Given the description of an element on the screen output the (x, y) to click on. 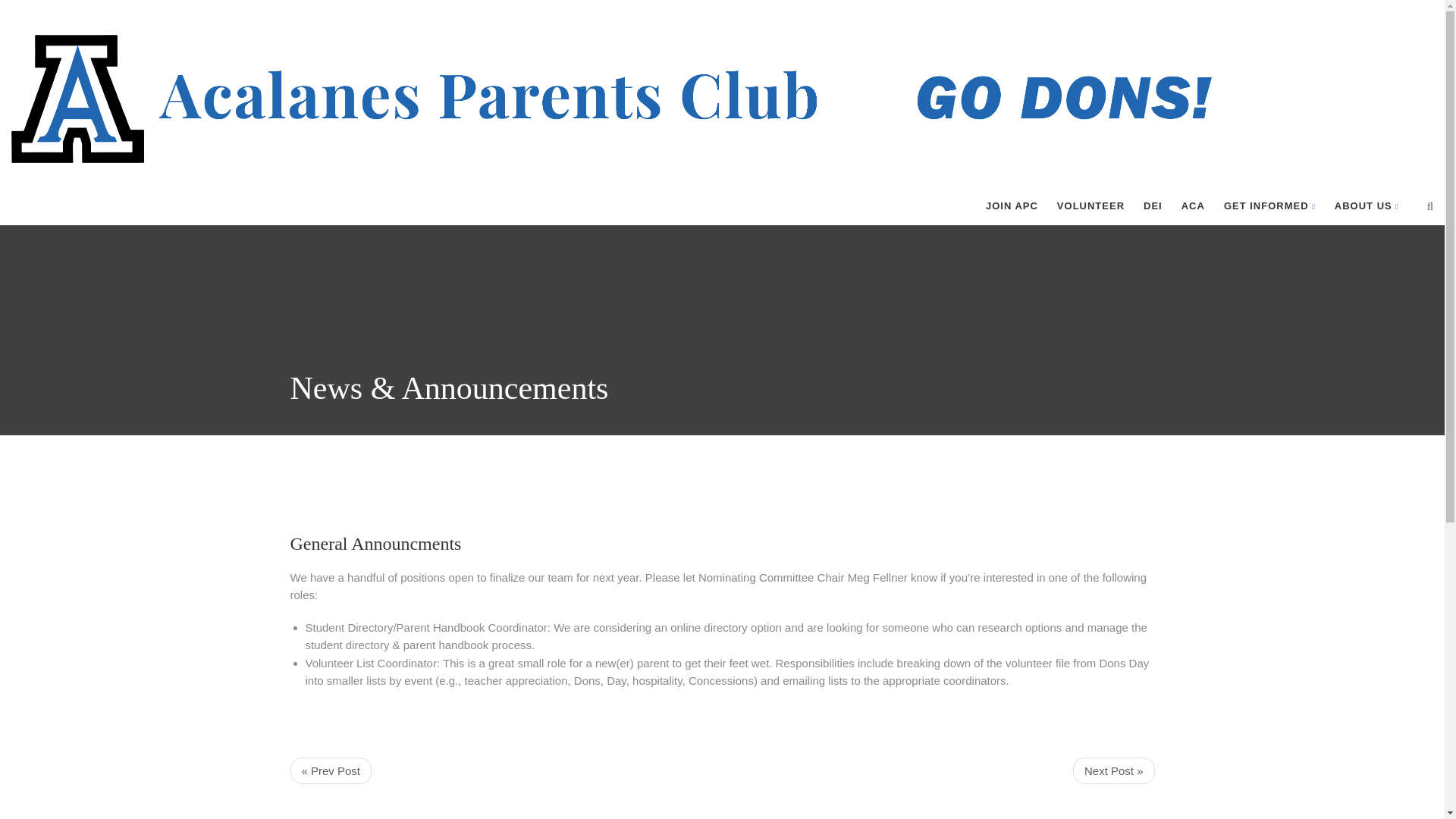
GET INFORMED (1270, 206)
ACA (1192, 206)
ABOUT US (1367, 206)
VOLUNTEER (1090, 206)
JOIN APC (1011, 206)
DEI (1151, 206)
